Given the description of an element on the screen output the (x, y) to click on. 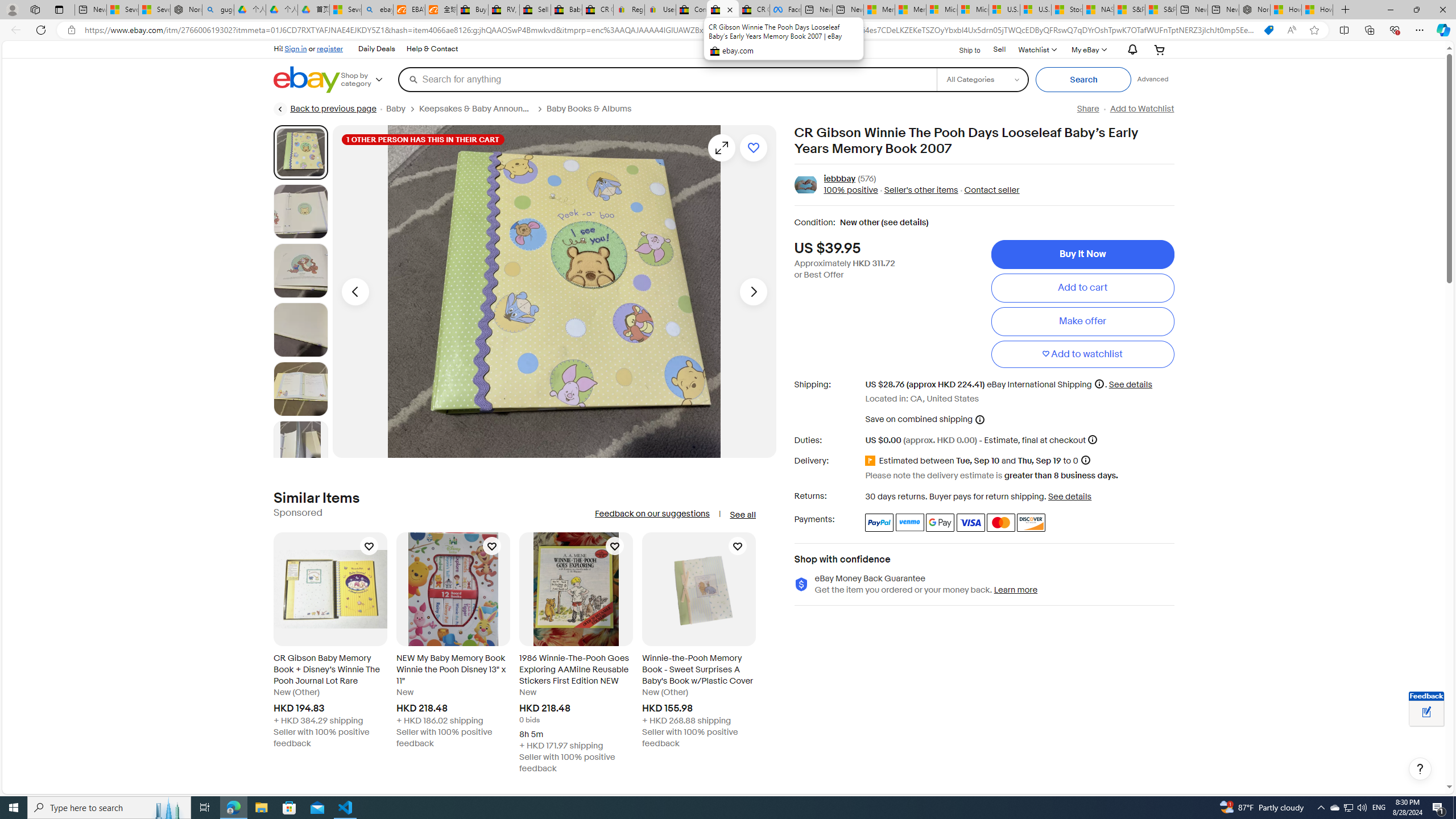
Picture 6 of 22 (300, 448)
Google Pay (940, 521)
Copilot (Ctrl+Shift+.) (1442, 29)
Shop by category (368, 79)
Picture 3 of 22 (300, 270)
  Seller's other items (917, 190)
Add to Watchlist (1141, 108)
Picture 2 of 22 (300, 211)
Sell (999, 49)
Restore (1416, 9)
Your shopping cart (1159, 49)
eBay Home (306, 79)
S&P 500, Nasdaq end lower, weighed by Nvidia dip | Watch (1160, 9)
